Given the description of an element on the screen output the (x, y) to click on. 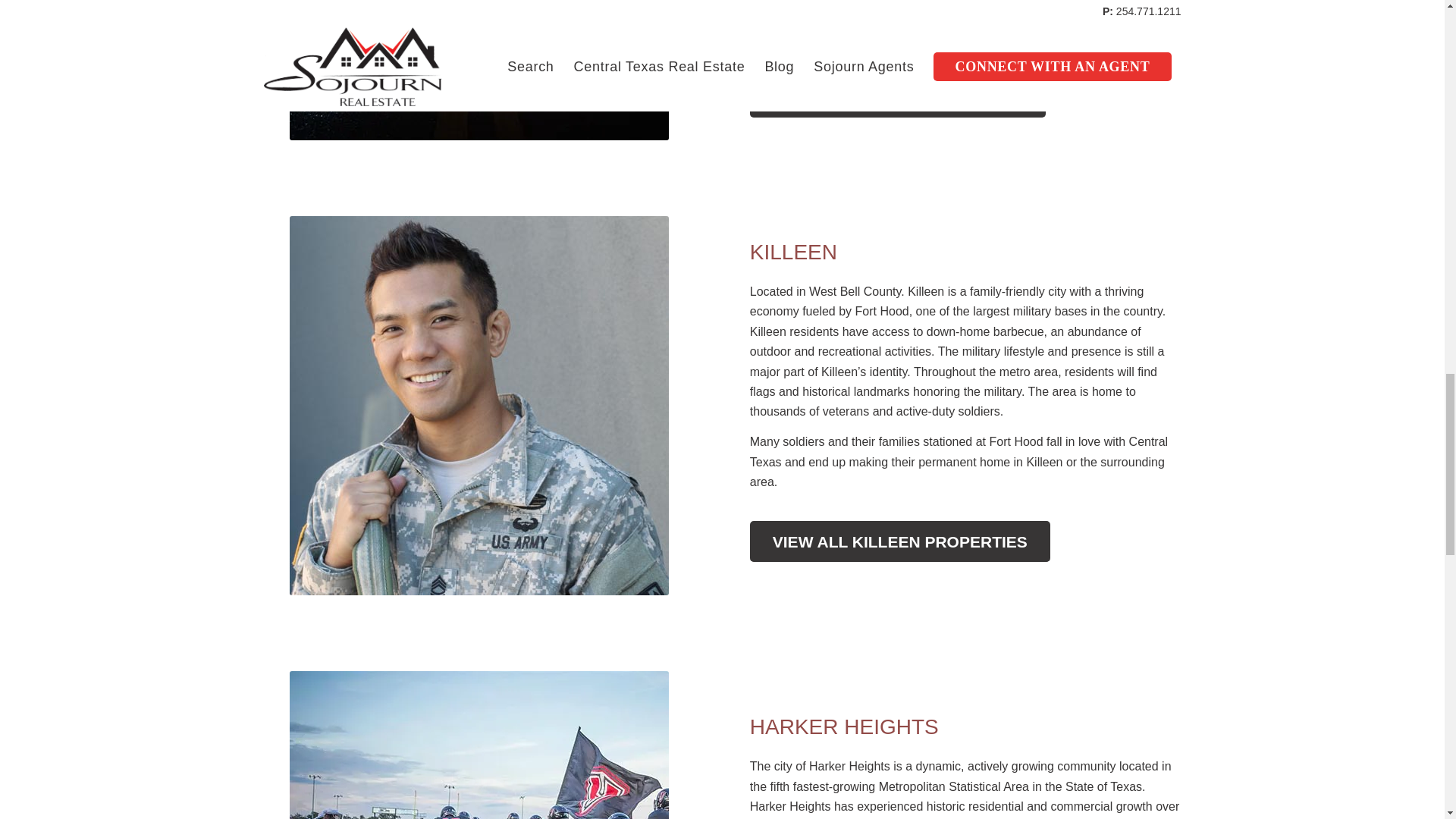
harker-heights-community (478, 744)
VIEW ALL KILLEEN PROPERTIES (899, 540)
VIEW ALL BELTON PROPERTIES (897, 96)
belton-community (478, 70)
